Given the description of an element on the screen output the (x, y) to click on. 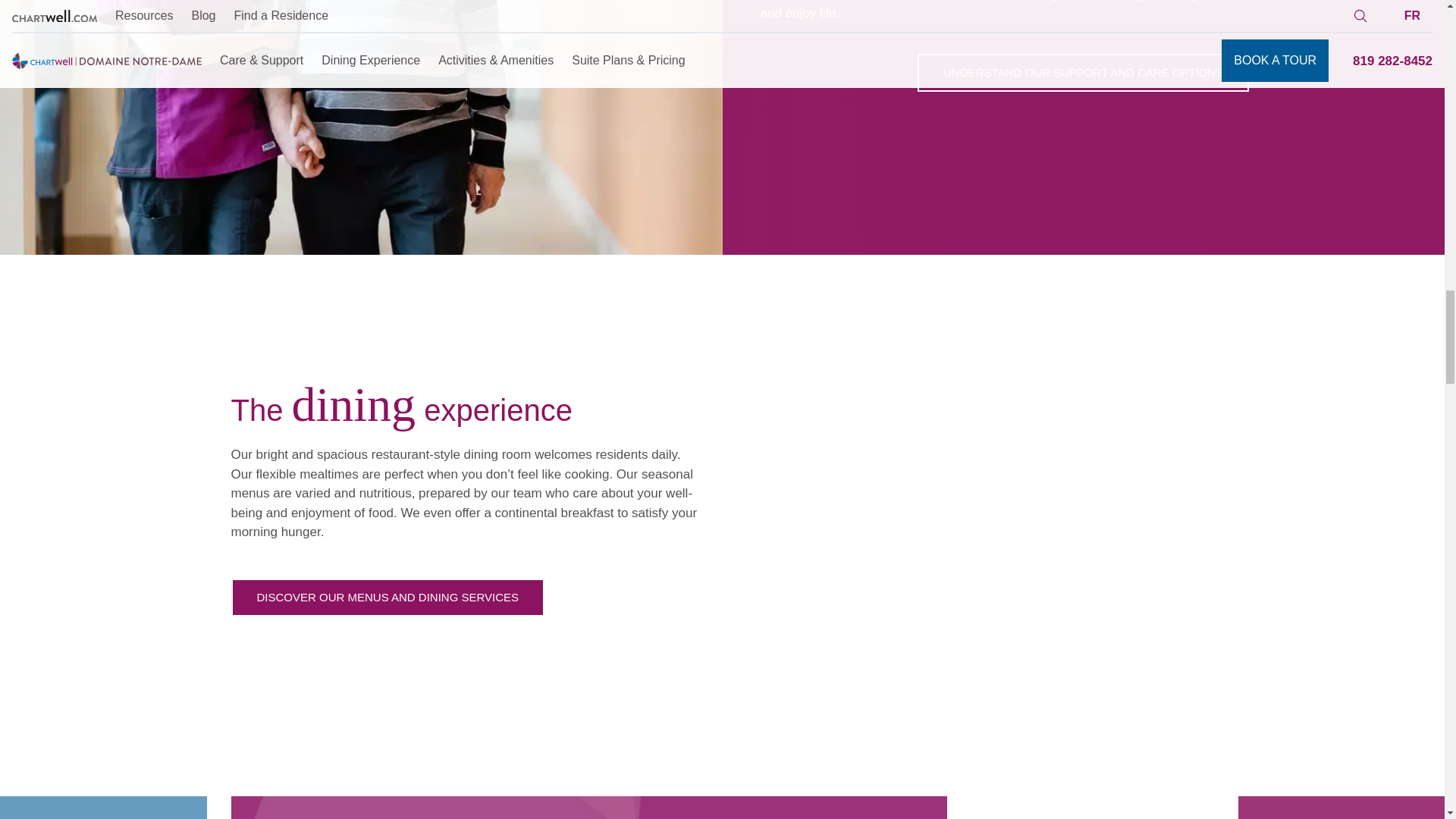
Discover our menus and dining services  (387, 597)
Understand our support and care options (1083, 73)
